Given the description of an element on the screen output the (x, y) to click on. 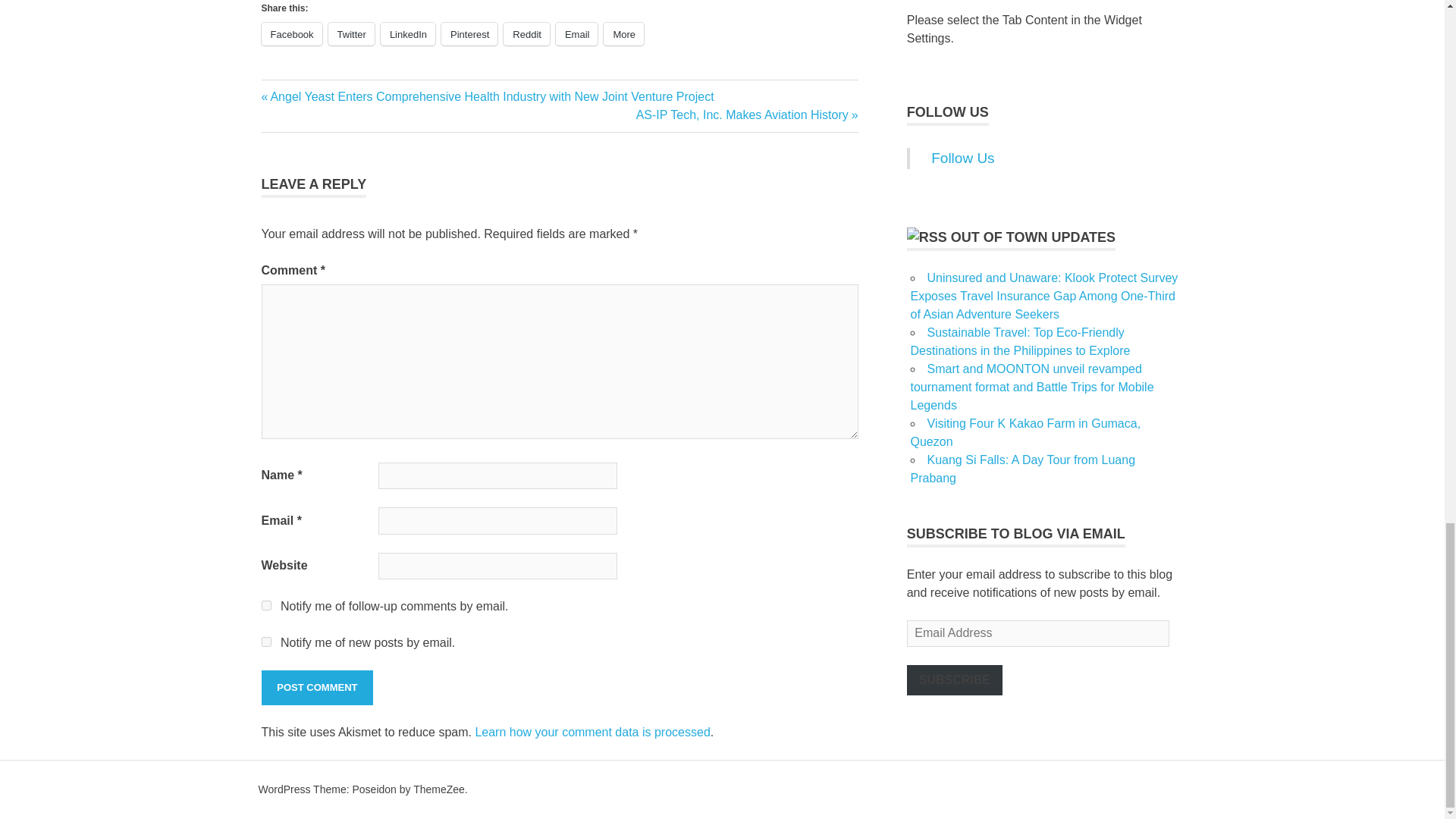
Click to share on Twitter (351, 33)
More (623, 33)
Post Comment (316, 687)
Twitter (351, 33)
Learn how your comment data is processed (592, 731)
Click to share on Reddit (526, 33)
Email (577, 33)
Post Comment (316, 687)
subscribe (265, 642)
